Given the description of an element on the screen output the (x, y) to click on. 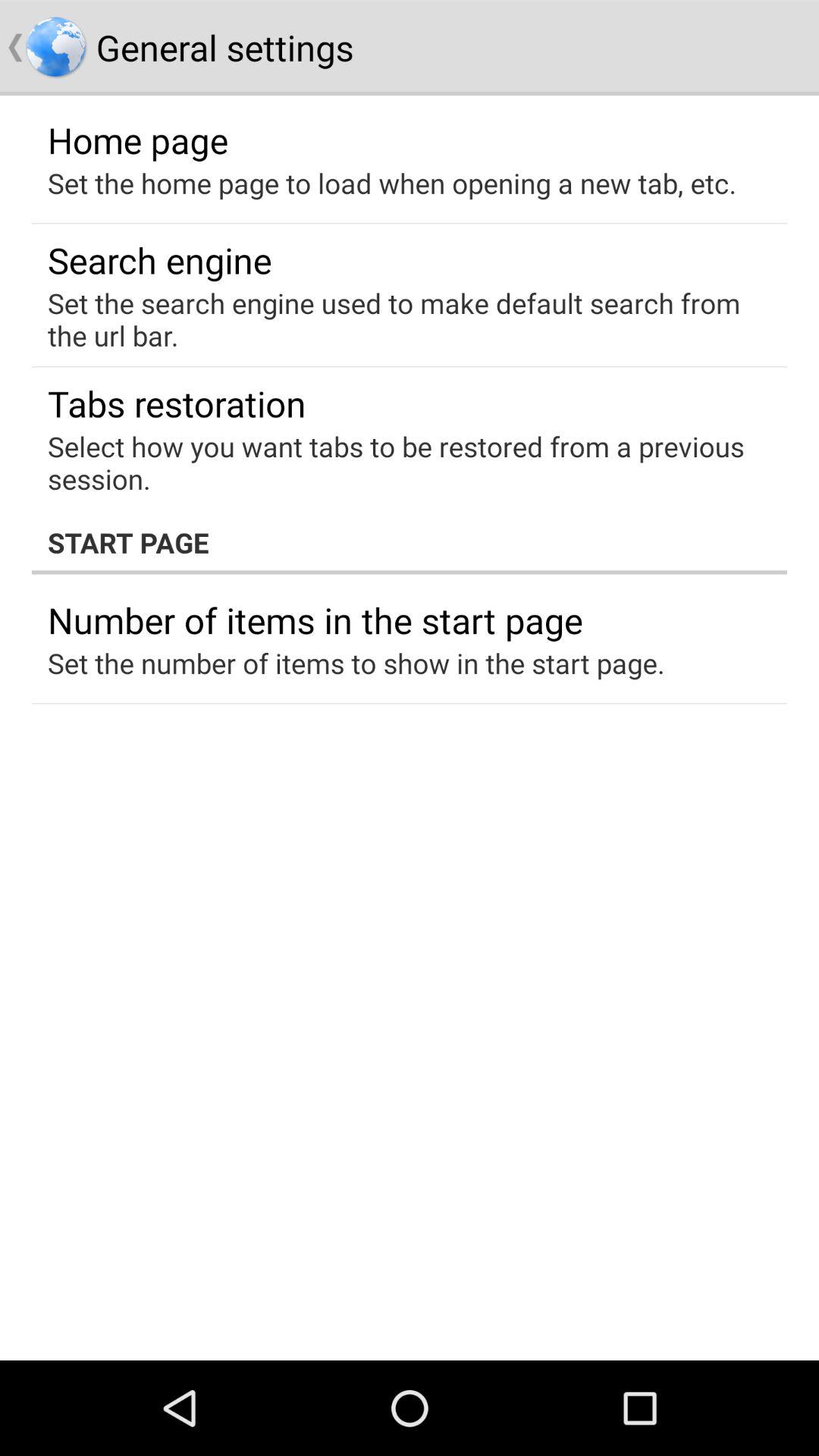
choose icon above select how you app (176, 403)
